Given the description of an element on the screen output the (x, y) to click on. 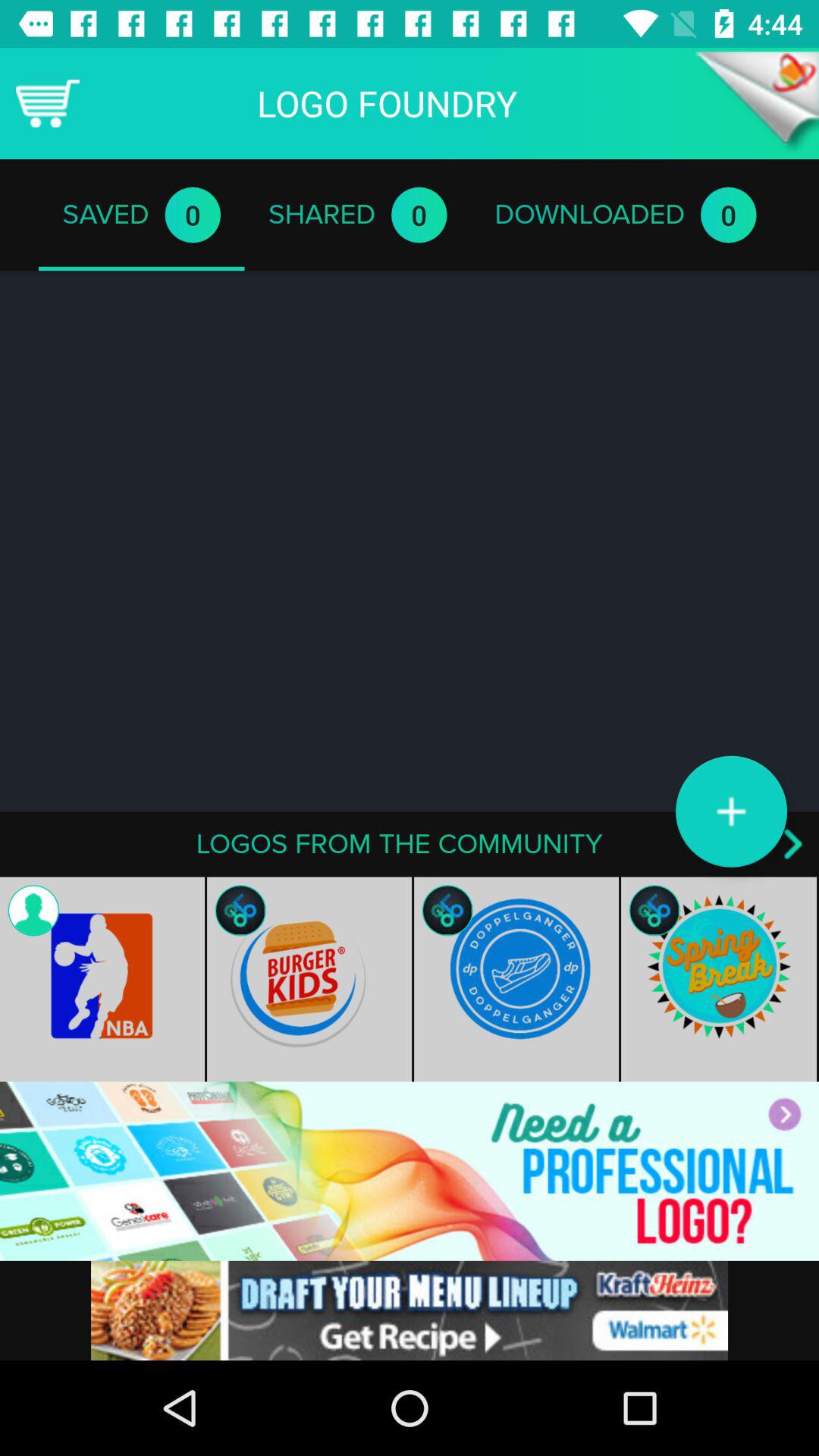
open (757, 103)
